Given the description of an element on the screen output the (x, y) to click on. 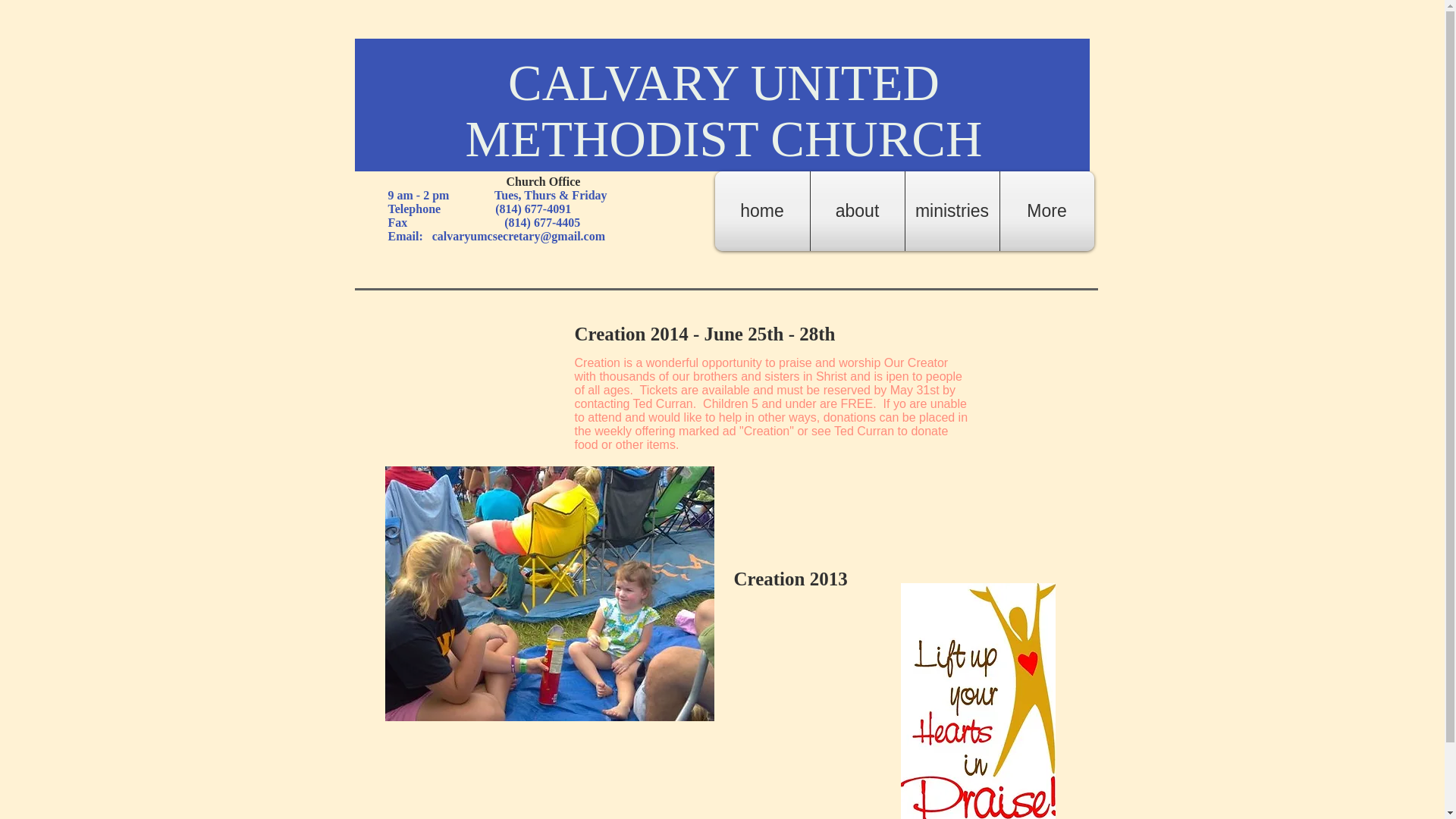
ministries (951, 210)
about (856, 210)
home (761, 210)
